Given the description of an element on the screen output the (x, y) to click on. 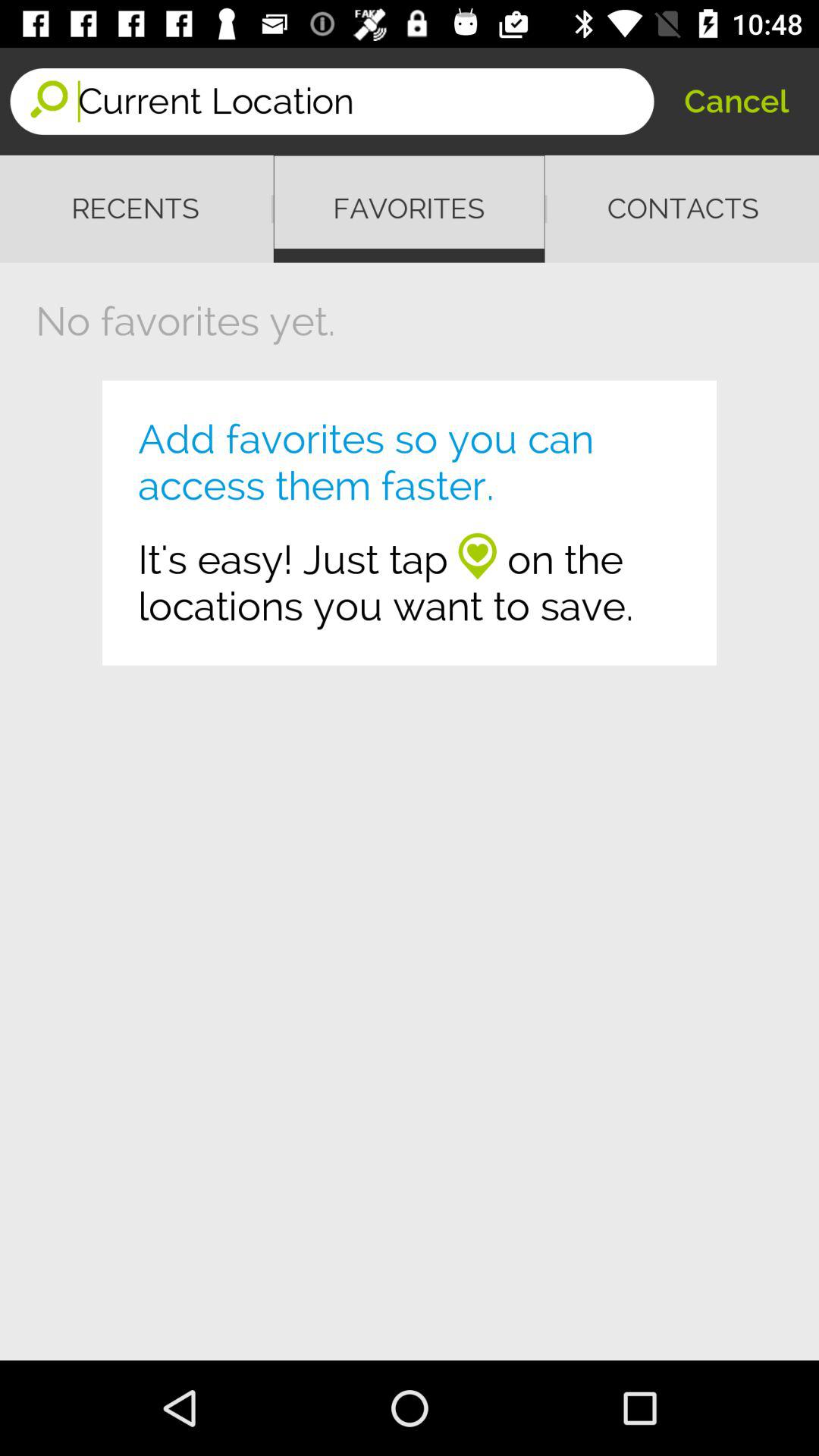
turn off the current location item (365, 101)
